Given the description of an element on the screen output the (x, y) to click on. 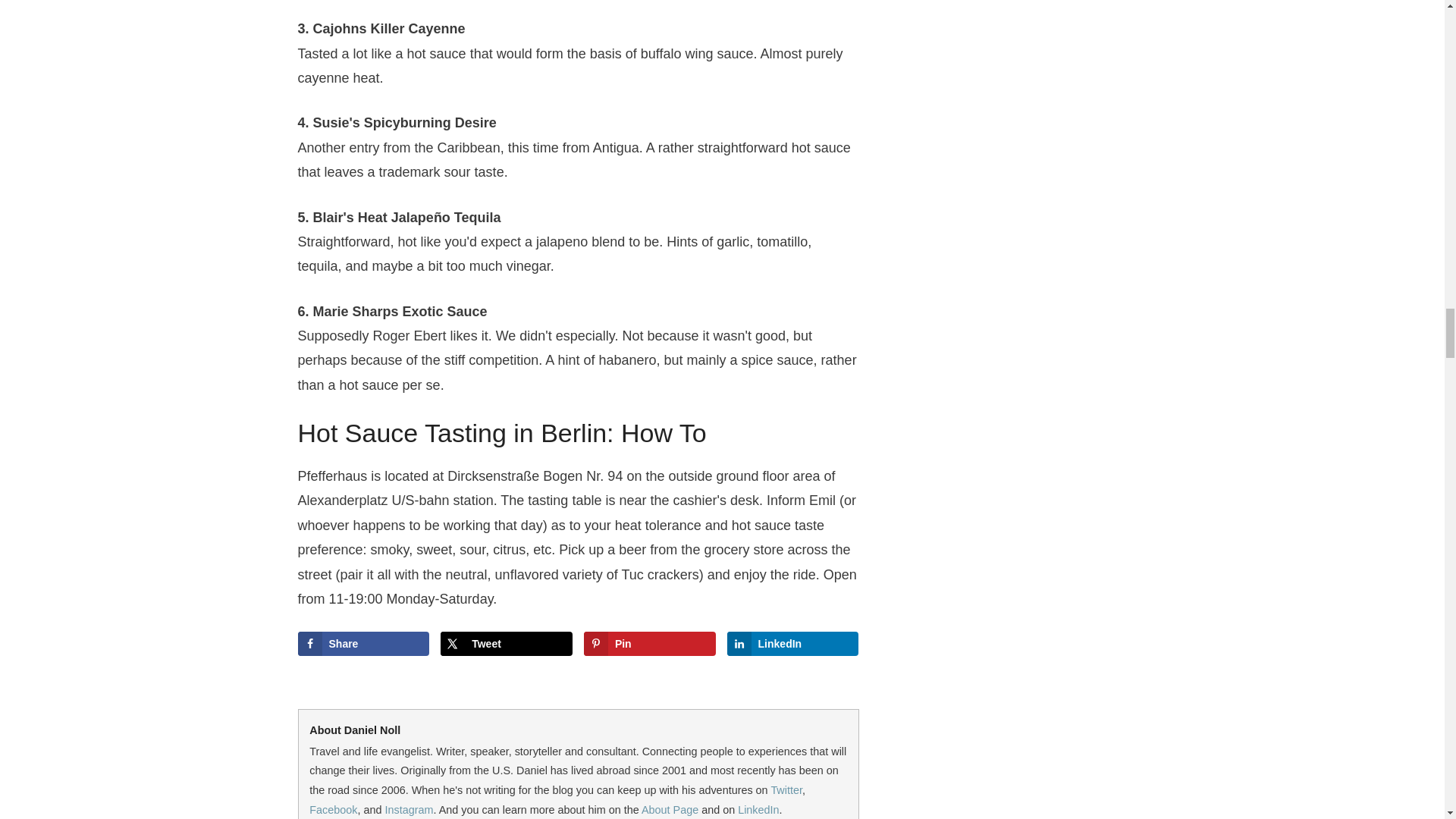
Share on X (506, 643)
Share on Facebook (363, 643)
Save to Pinterest (649, 643)
